Given the description of an element on the screen output the (x, y) to click on. 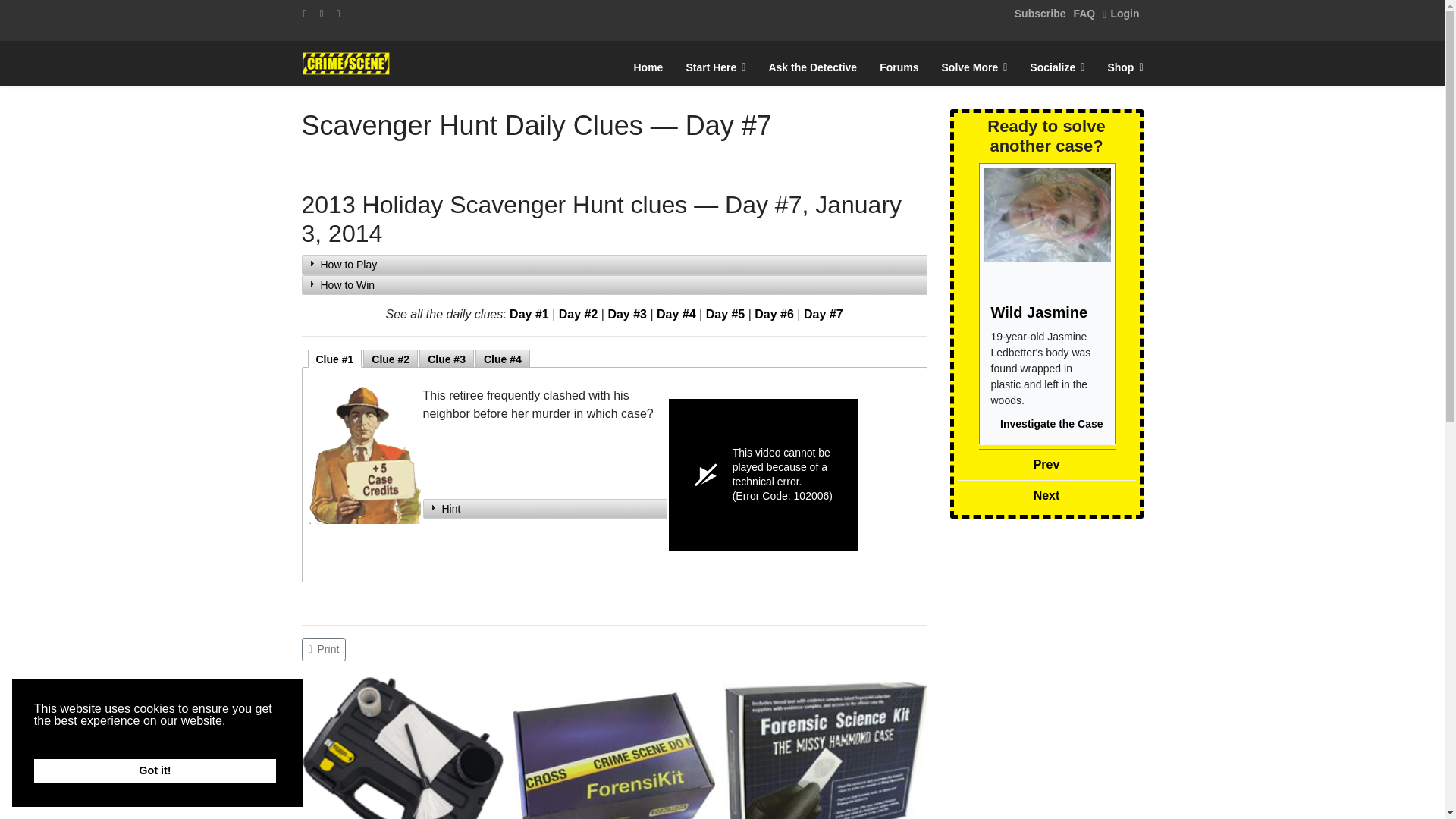
Click to open! (544, 508)
Forums (898, 67)
FAQ (1083, 13)
Cookie policy (74, 735)
Home (647, 67)
Shop (1125, 67)
Start Here (715, 67)
Subscribe (1039, 13)
Click to open! (614, 284)
Privacy policy (162, 735)
Solve More (973, 67)
Socialize (1056, 67)
Ask the Detective (812, 67)
Got it! (154, 770)
Login (1120, 13)
